Given the description of an element on the screen output the (x, y) to click on. 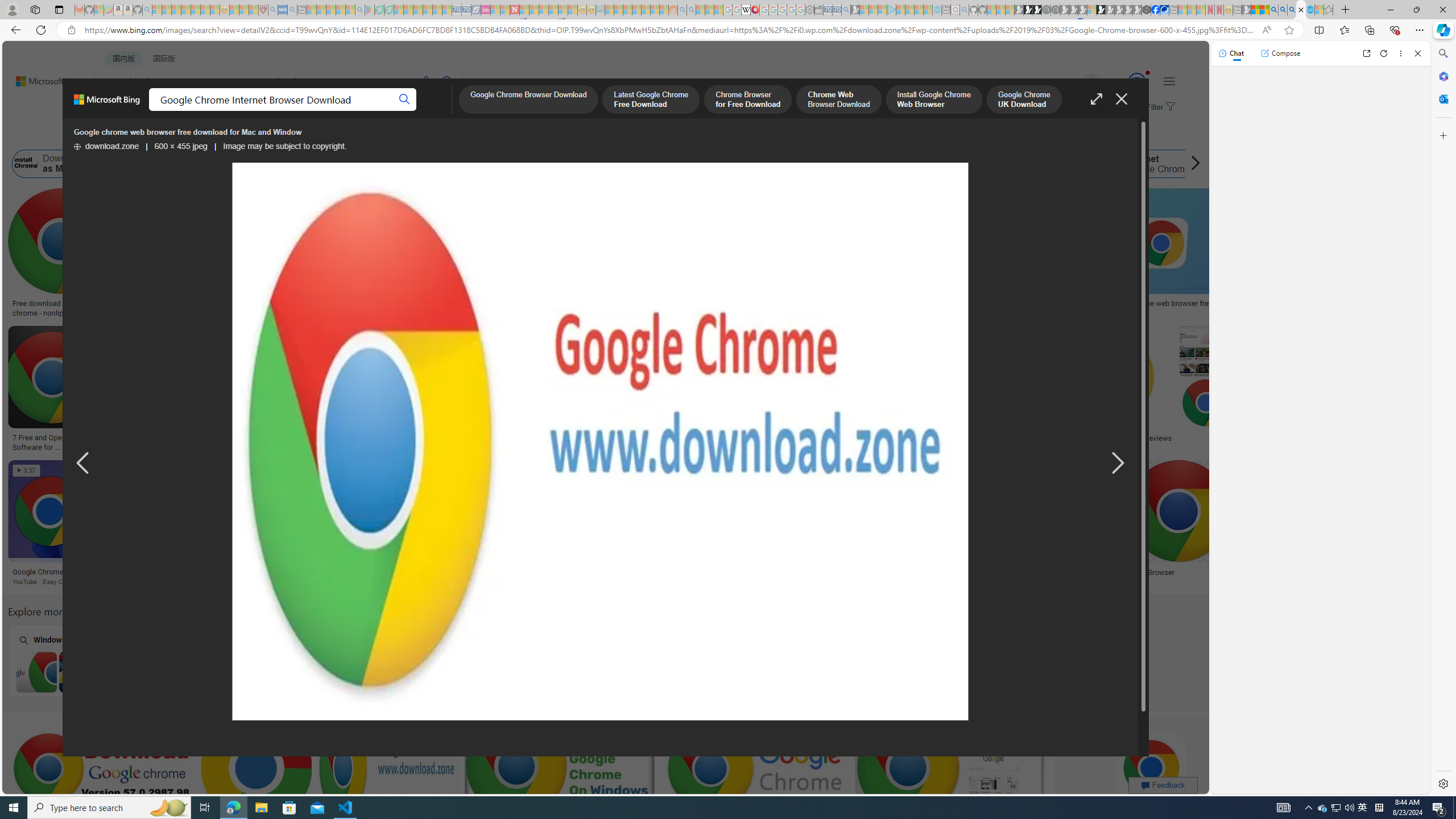
Google web browser download chrome - kizacareers (723, 441)
DICT (407, 111)
The latest version of google chrome free download - gaimacro (980, 441)
Future Focus Report 2024 - Sleeping (1054, 9)
What Is The Fastest Browser To Use With Windows 10 (1034, 576)
Download Google Chrome as My Web Browser (25, 163)
ACADEMIC (360, 111)
Chrome Web Browser Download (838, 100)
